Given the description of an element on the screen output the (x, y) to click on. 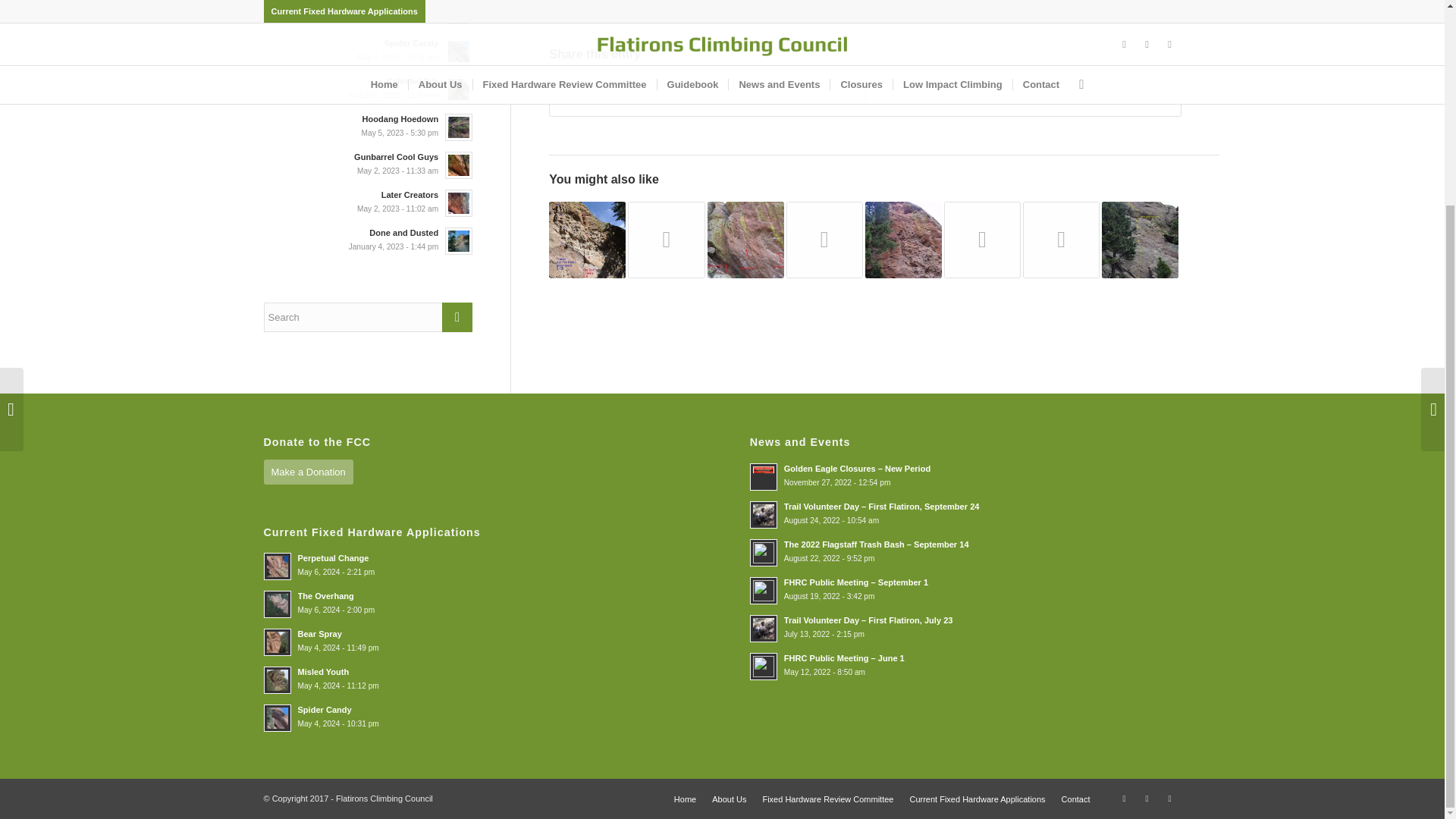
Triceratops Tracks (587, 239)
The Handy Warmup (745, 239)
